Given the description of an element on the screen output the (x, y) to click on. 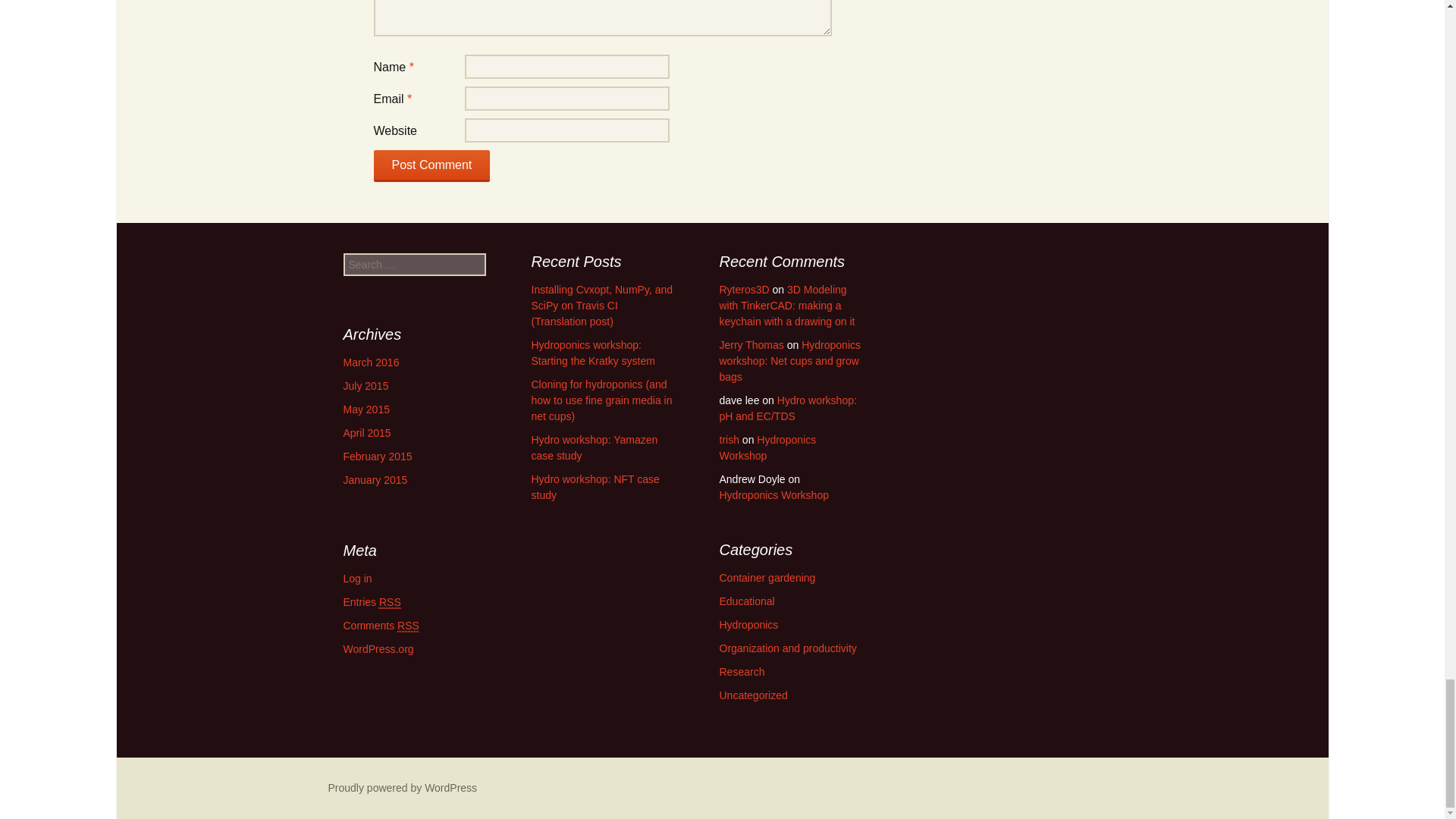
Hydroponics Workshop (773, 494)
Post Comment (430, 165)
Post Comment (430, 165)
Hydro workshop: NFT case study (595, 487)
trish (728, 439)
Ryteros3D (743, 289)
Hydroponics workshop: Net cups and grow bags (789, 361)
Hydroponics workshop: Starting the Kratky system (592, 352)
Jerry Thomas (751, 345)
